Given the description of an element on the screen output the (x, y) to click on. 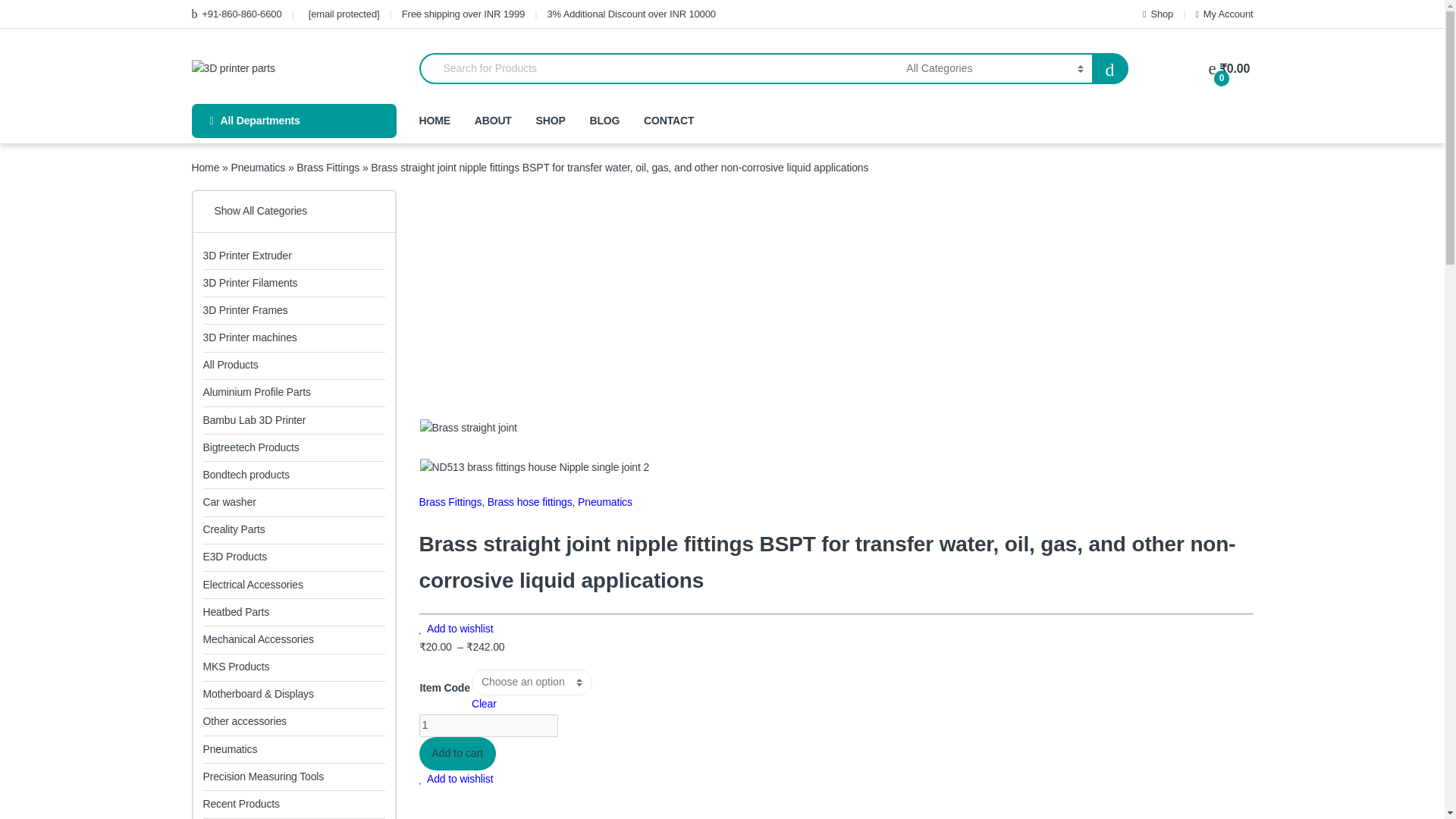
Shop (1157, 13)
1 (829, 448)
Shop (1157, 13)
My Account (1223, 13)
Free shipping over INR 1999 (469, 13)
My Account (1223, 13)
Free shipping over INR 1999 (469, 13)
